Given the description of an element on the screen output the (x, y) to click on. 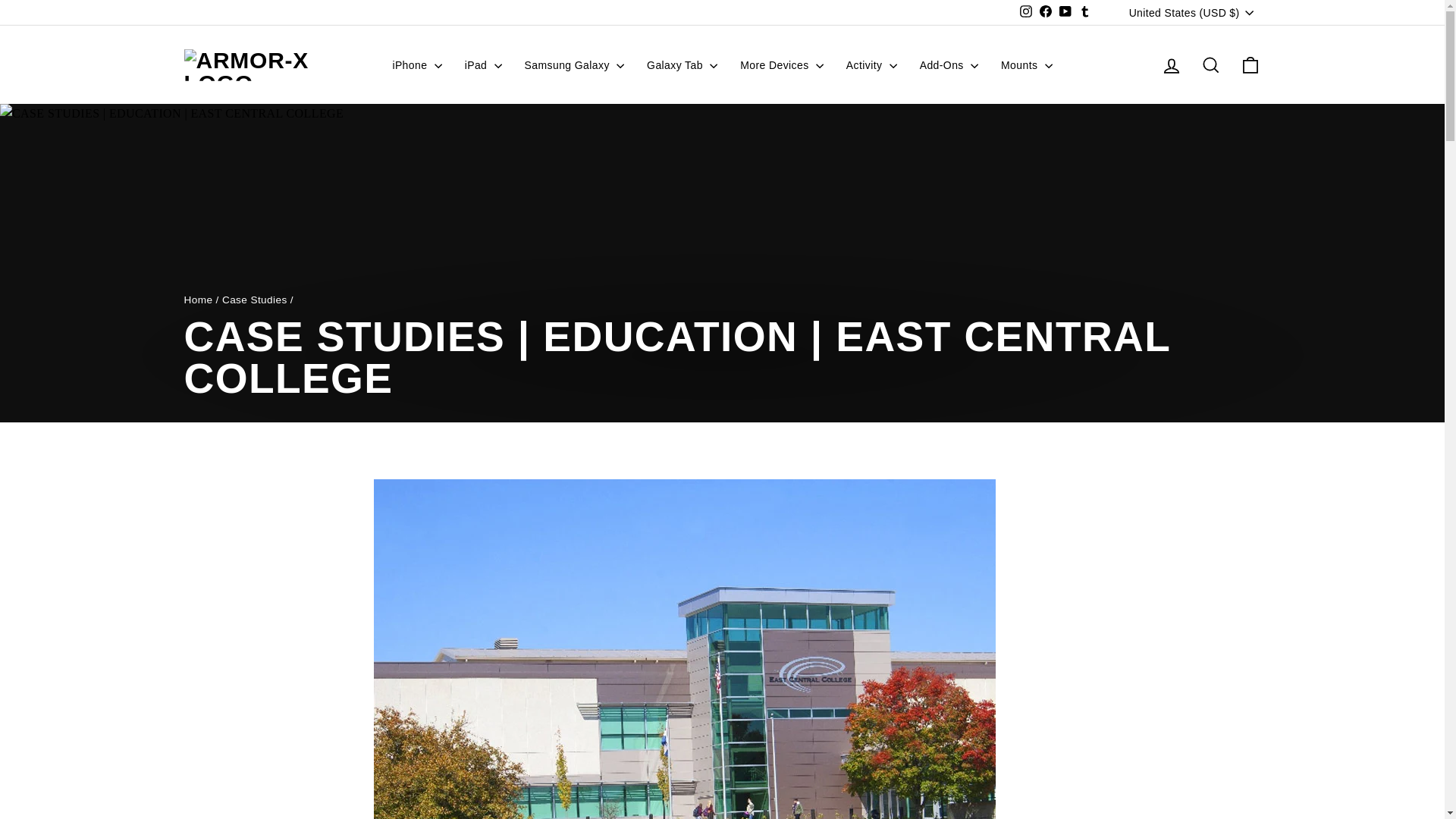
account (1170, 65)
Back to the frontpage (197, 299)
tumblr (1084, 10)
icon-bag-minimal (1249, 65)
instagram (1026, 10)
icon-search (1210, 65)
